Given the description of an element on the screen output the (x, y) to click on. 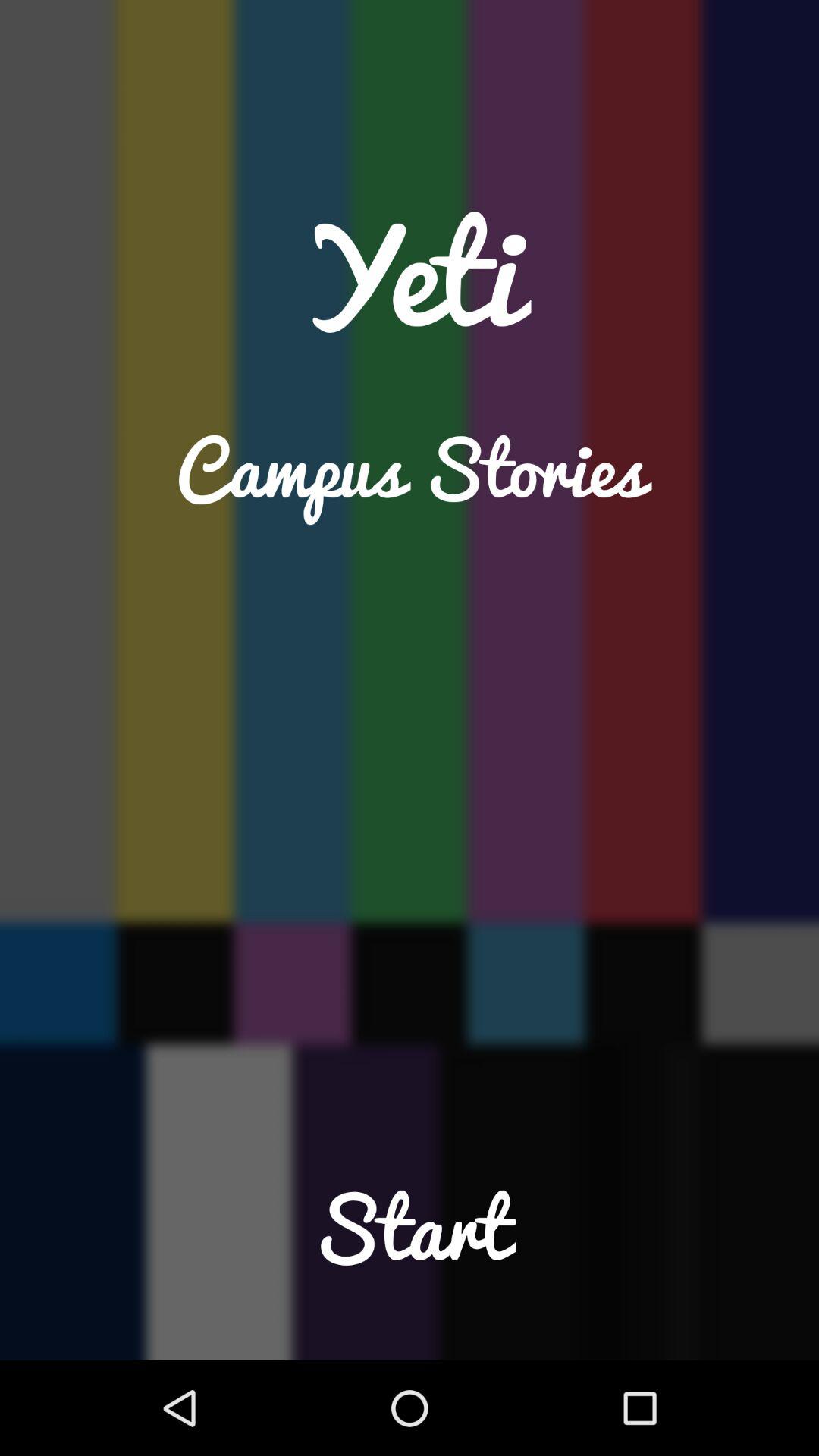
turn off the start icon (409, 1259)
